Given the description of an element on the screen output the (x, y) to click on. 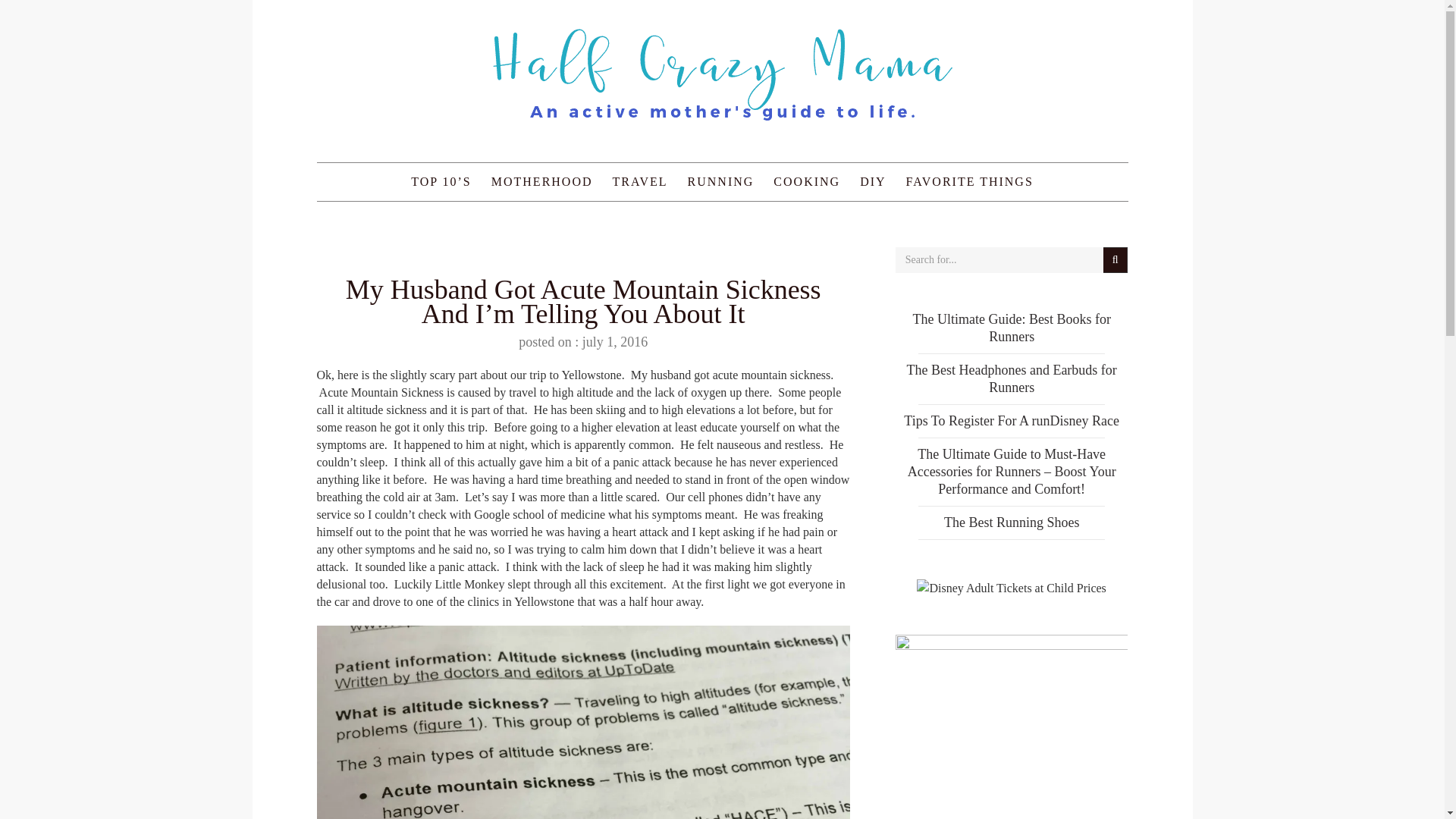
posted on : july 1, 2016 (582, 341)
MOTHERHOOD (541, 181)
TRAVEL (640, 181)
The Best Running Shoes (1011, 522)
DIY (872, 181)
RUNNING (721, 181)
FAVORITE THINGS (969, 181)
The Best Headphones and Earbuds for Runners (1010, 378)
COOKING (806, 181)
Tips To Register For A runDisney Race (1011, 420)
